Given the description of an element on the screen output the (x, y) to click on. 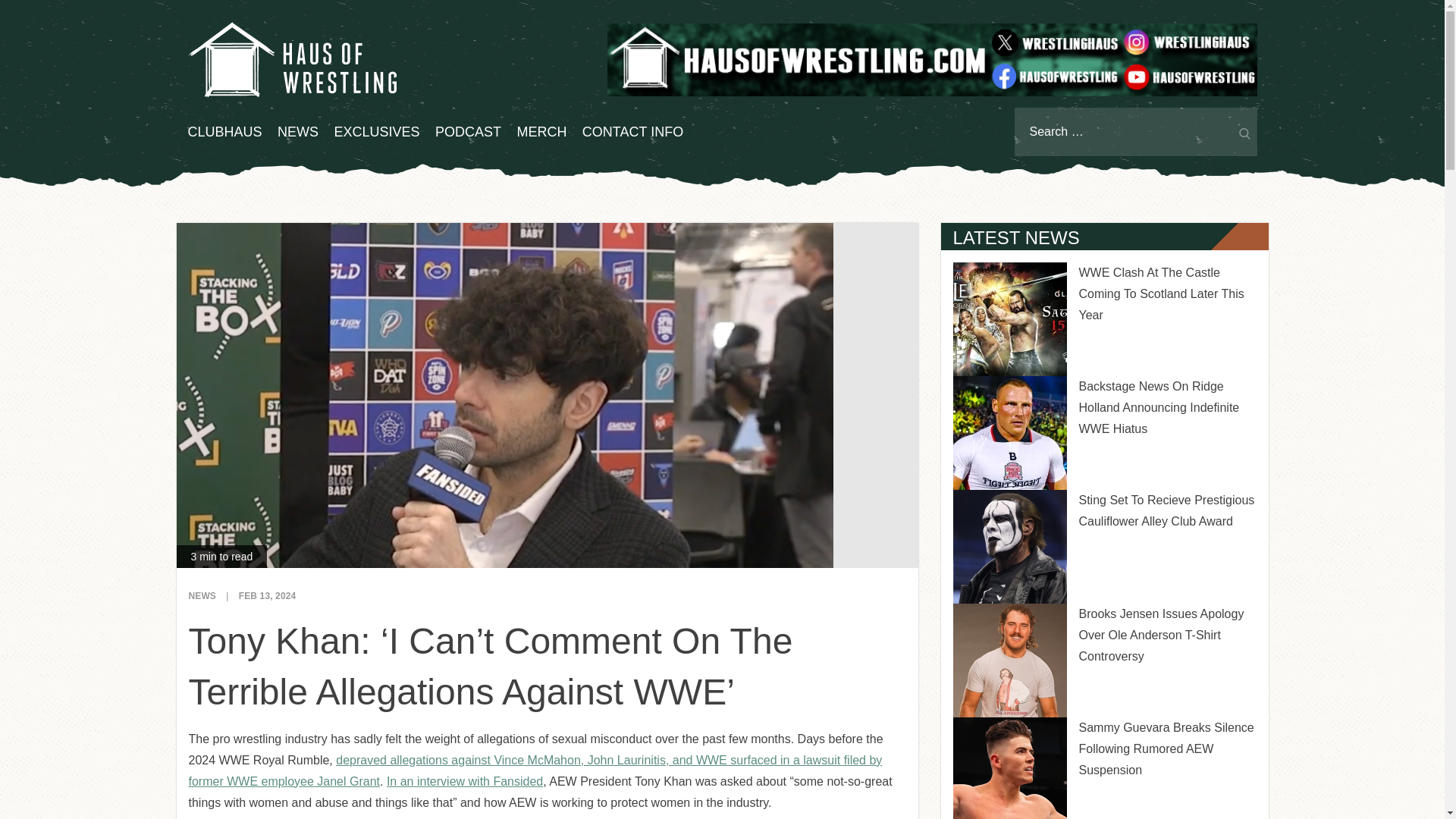
NEWS (201, 595)
Haus of Wrestling (291, 59)
NEWS (298, 131)
MERCH (541, 131)
In an interview with Fansided (465, 780)
PODCAST (467, 131)
EXCLUSIVES (376, 131)
CONTACT INFO (632, 131)
CLUBHAUS (224, 131)
Search (1242, 131)
Vince McMahon Accused Of Sex Trafficking In New WSJ Report (534, 770)
FEB 13, 2024 (267, 595)
